Given the description of an element on the screen output the (x, y) to click on. 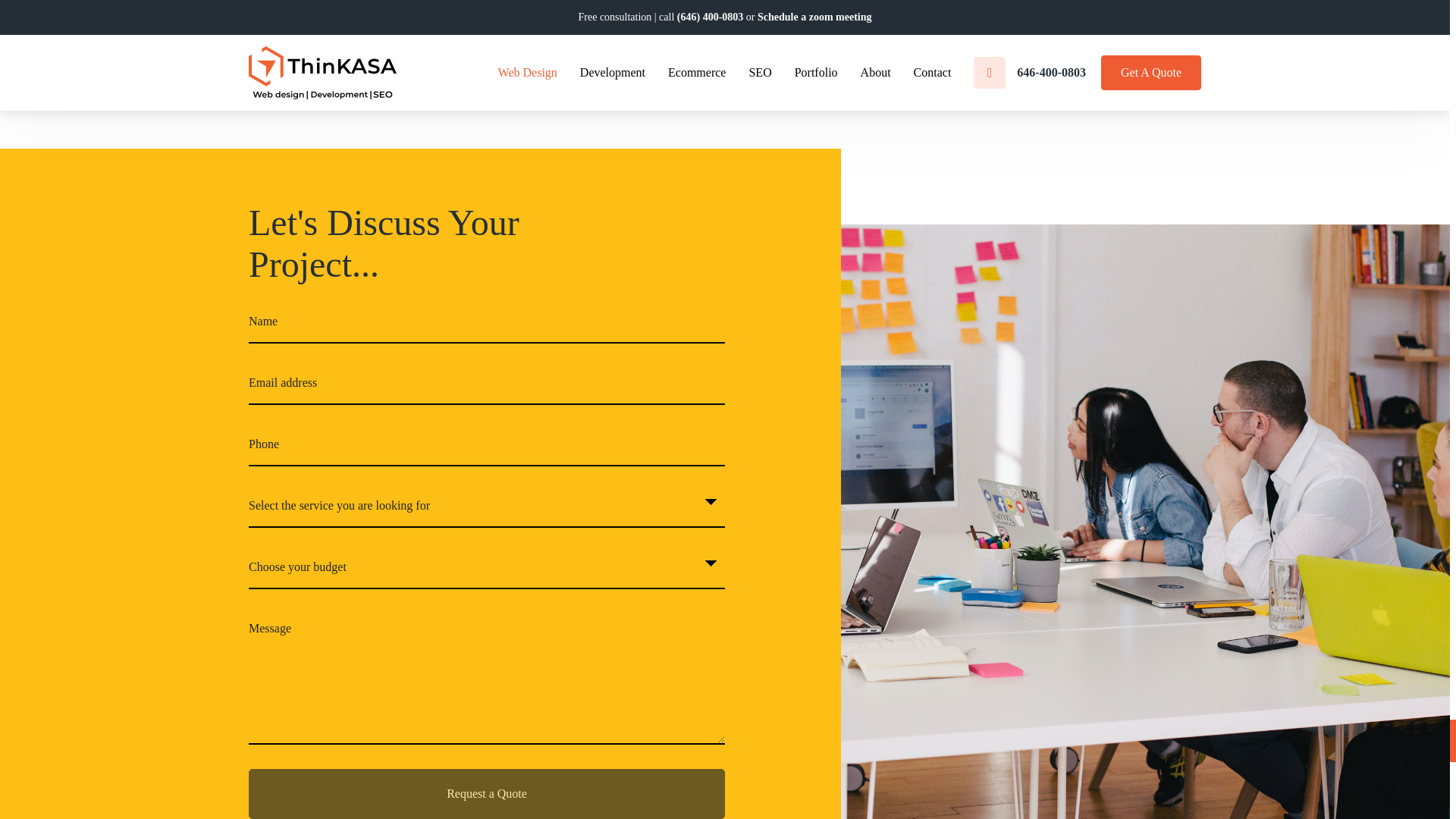
Request a Quote (486, 794)
